Given the description of an element on the screen output the (x, y) to click on. 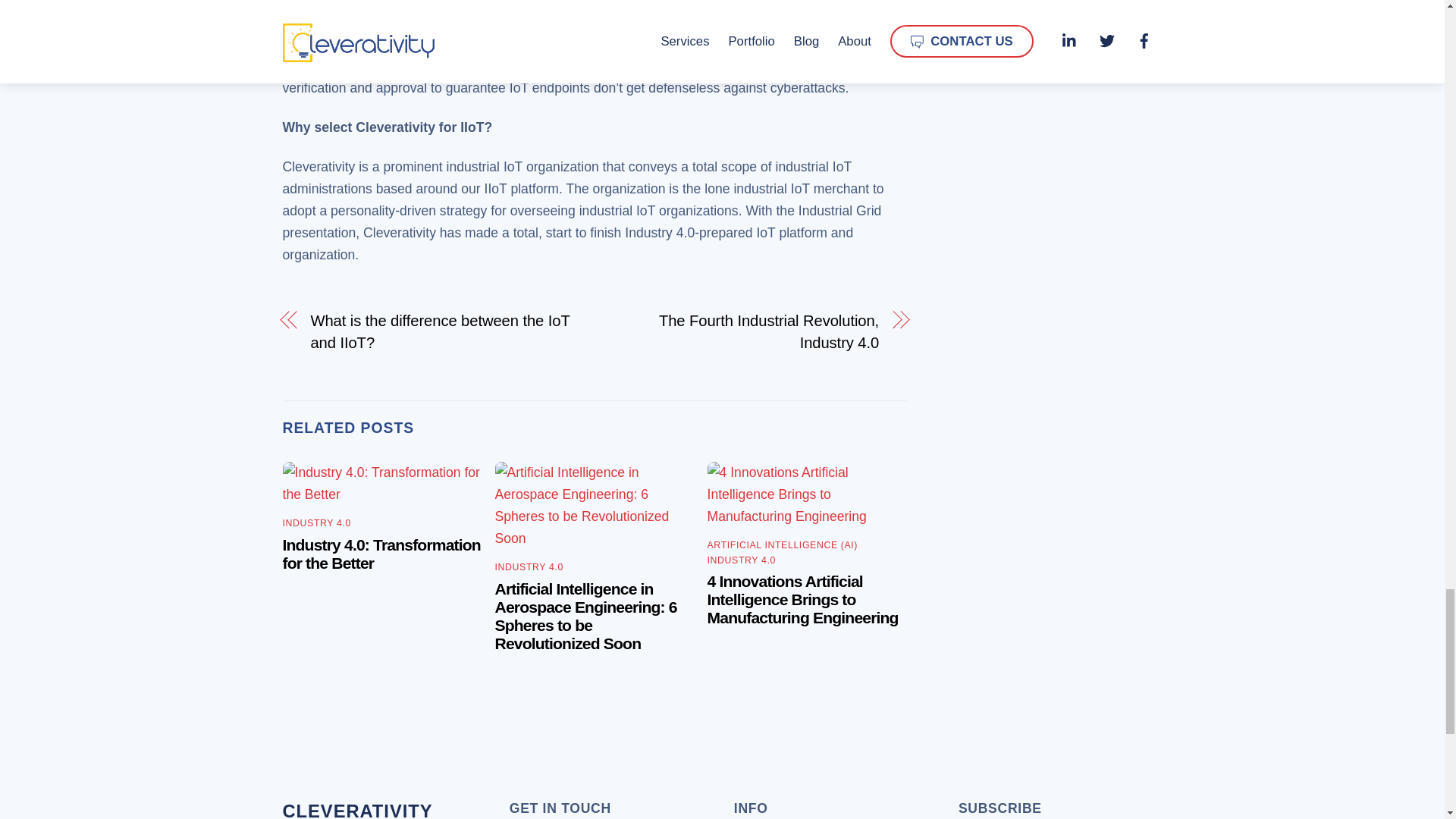
Industry 4.0: Transformation for the Better (381, 483)
INDUSTRY 4.0 (741, 560)
Industry 4.0: Transformation for the Better (381, 553)
INDUSTRY 4.0 (316, 522)
Cleverativity (357, 809)
What is the difference between the IoT and IIoT? (442, 331)
The Fourth Industrial Revolution, Industry 4.0 (745, 331)
